Given the description of an element on the screen output the (x, y) to click on. 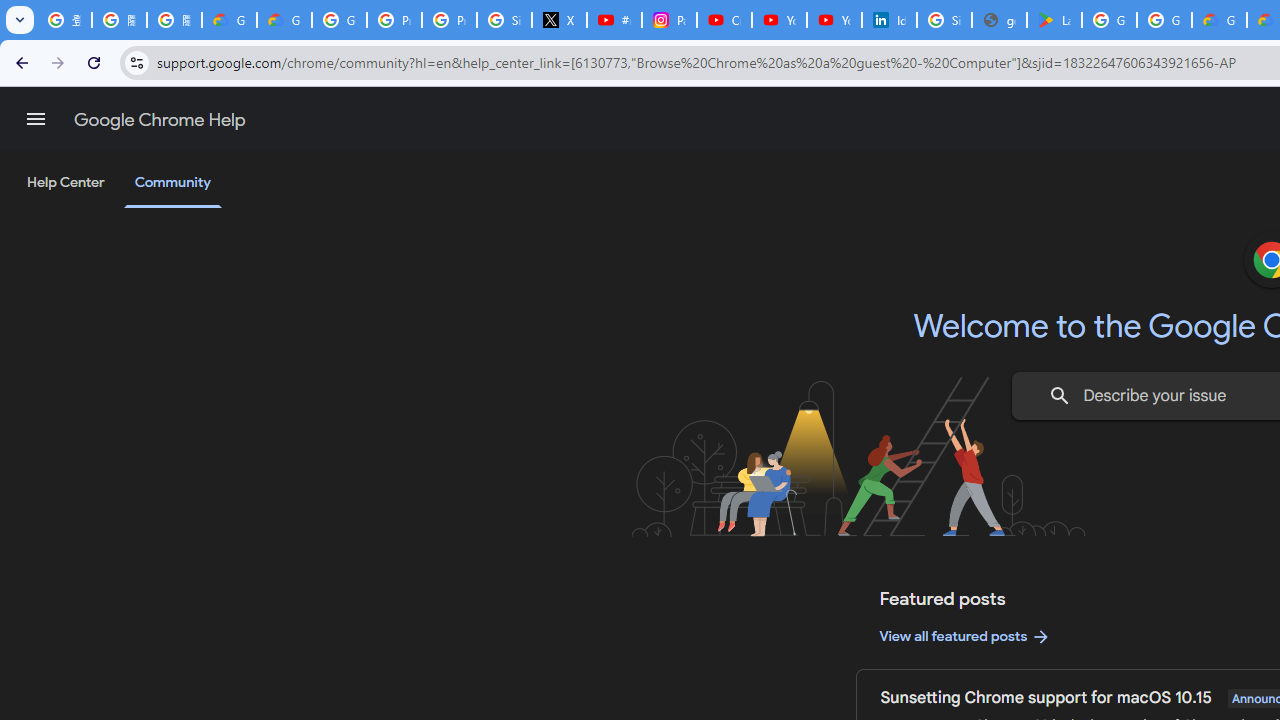
Google Chrome Help (159, 119)
Identity verification via Persona | LinkedIn Help (888, 20)
Google Workspace - Specific Terms (1163, 20)
Community (171, 183)
#nbabasketballhighlights - YouTube (614, 20)
YouTube Culture & Trends - YouTube Top 10, 2021 (833, 20)
Google Cloud Privacy Notice (284, 20)
X (559, 20)
Sign in - Google Accounts (504, 20)
View all featured posts (965, 636)
Main menu (35, 119)
System (10, 11)
System (10, 11)
